Given the description of an element on the screen output the (x, y) to click on. 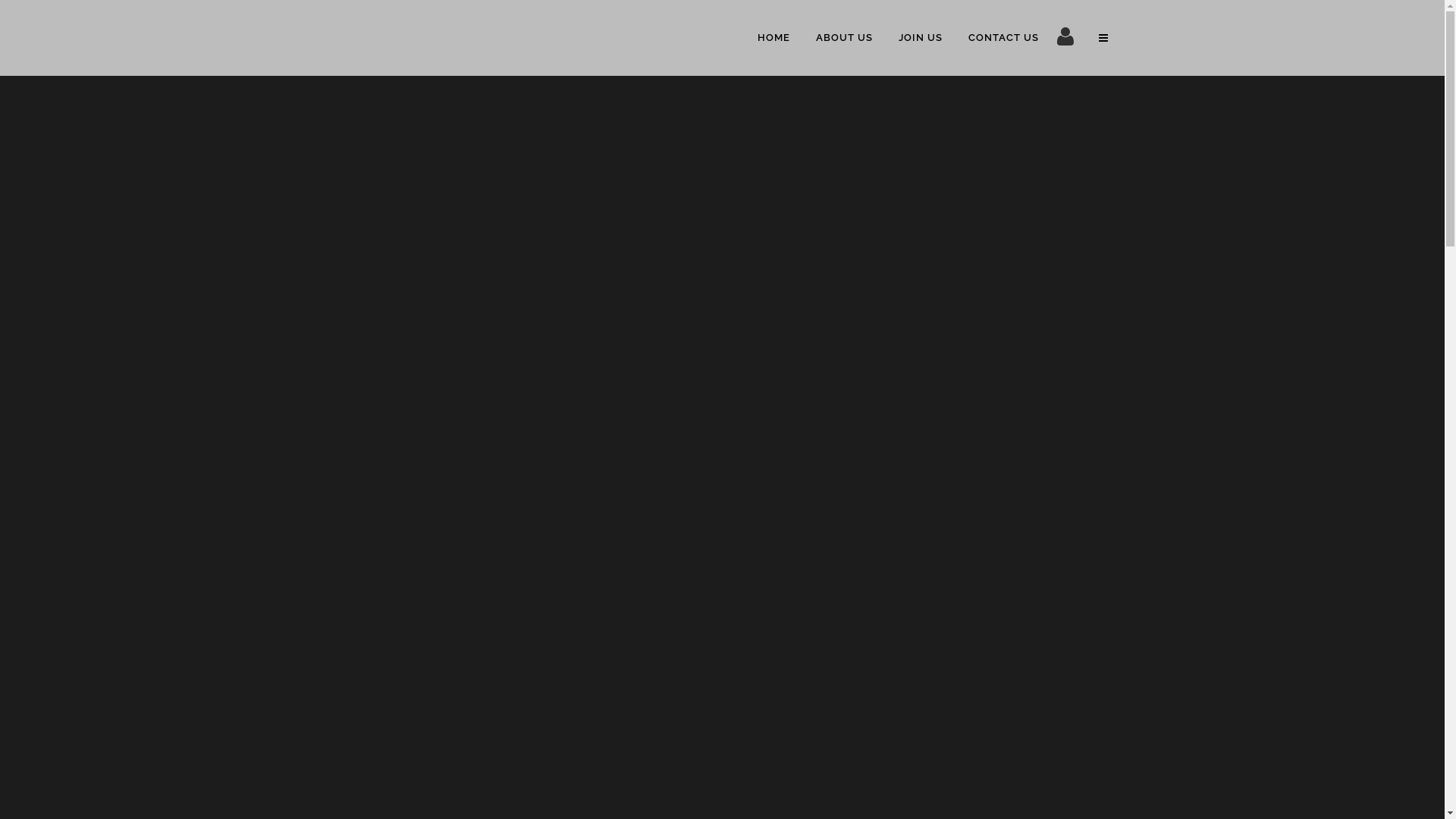
JOIN US Element type: text (920, 37)
ABOUT US Element type: text (843, 37)
CONTACT US Element type: text (1003, 37)
HOME Element type: text (773, 37)
